Given the description of an element on the screen output the (x, y) to click on. 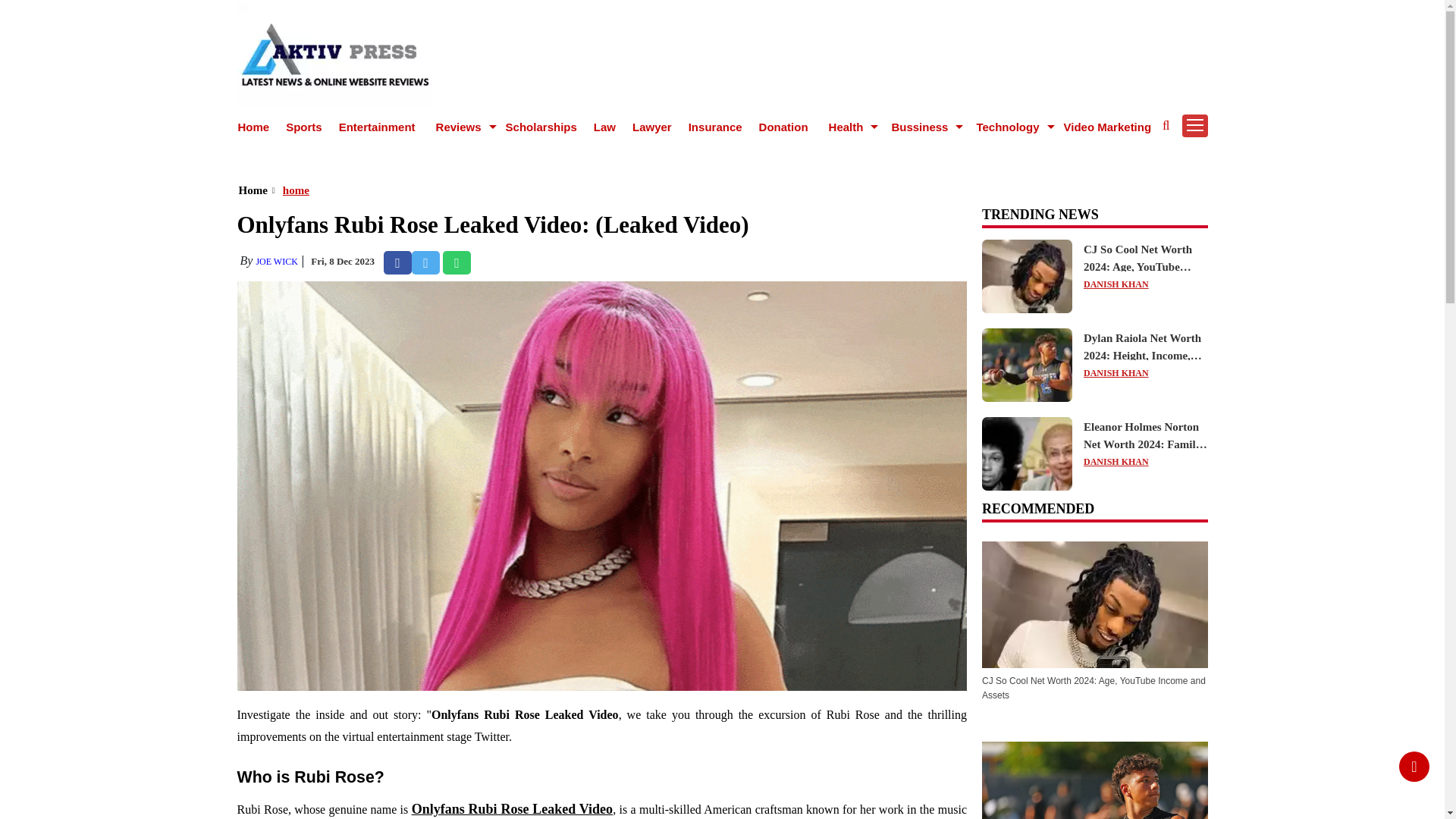
Sports (303, 126)
3rd party ad content (721, 153)
Bussiness (920, 126)
Donation (783, 126)
Lawyer (651, 126)
Technology (1009, 126)
Law (604, 126)
Home (253, 126)
Scholarships (540, 126)
Reviews (460, 126)
Health (847, 126)
Insurance (715, 126)
Video Marketing (1107, 126)
Entertainment (376, 126)
